Given the description of an element on the screen output the (x, y) to click on. 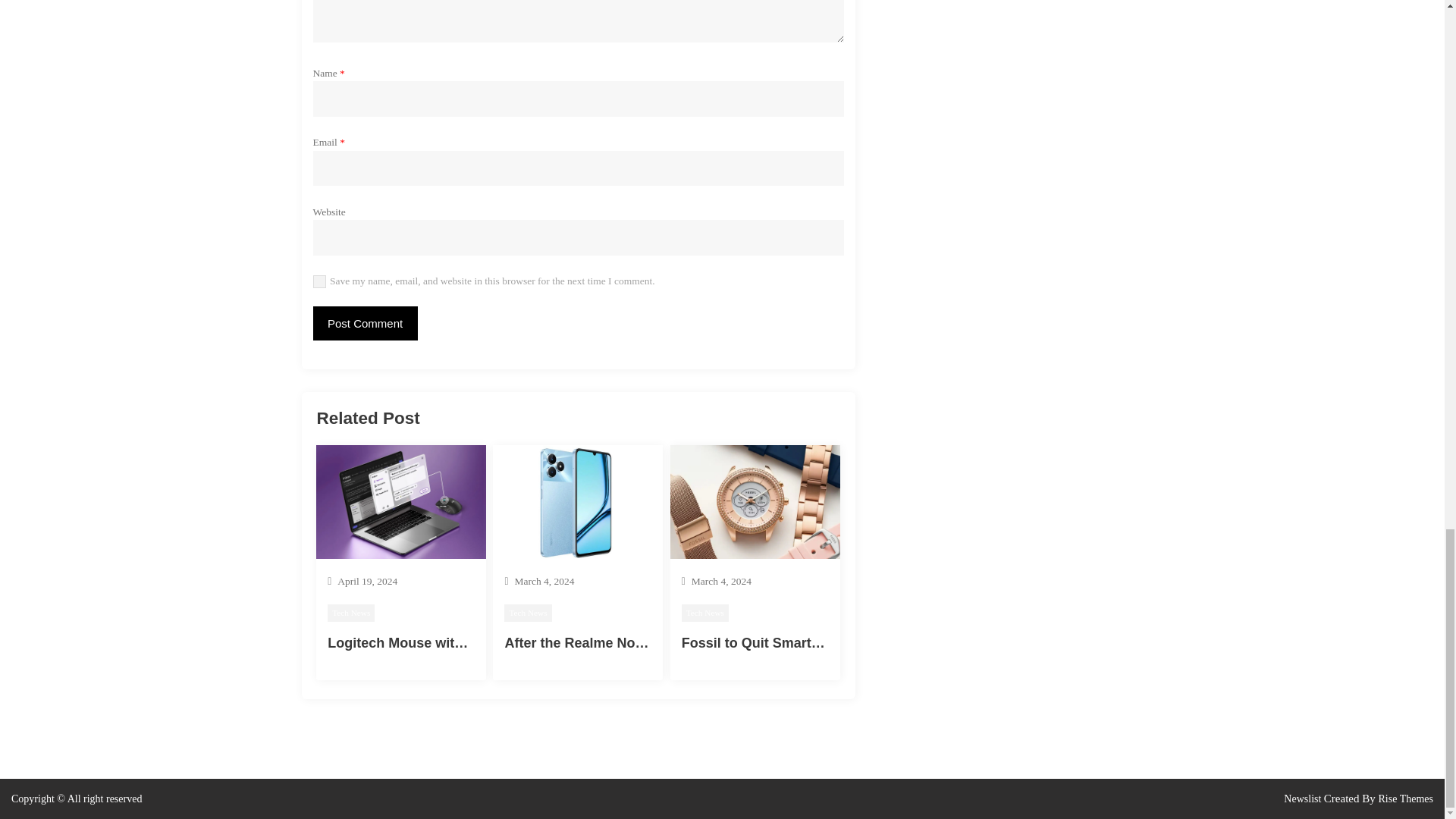
Post Comment (364, 323)
Tech News (705, 612)
Tech News (527, 612)
Logitech Mouse with AI Button (427, 642)
Post Comment (364, 323)
Tech News (350, 612)
